Given the description of an element on the screen output the (x, y) to click on. 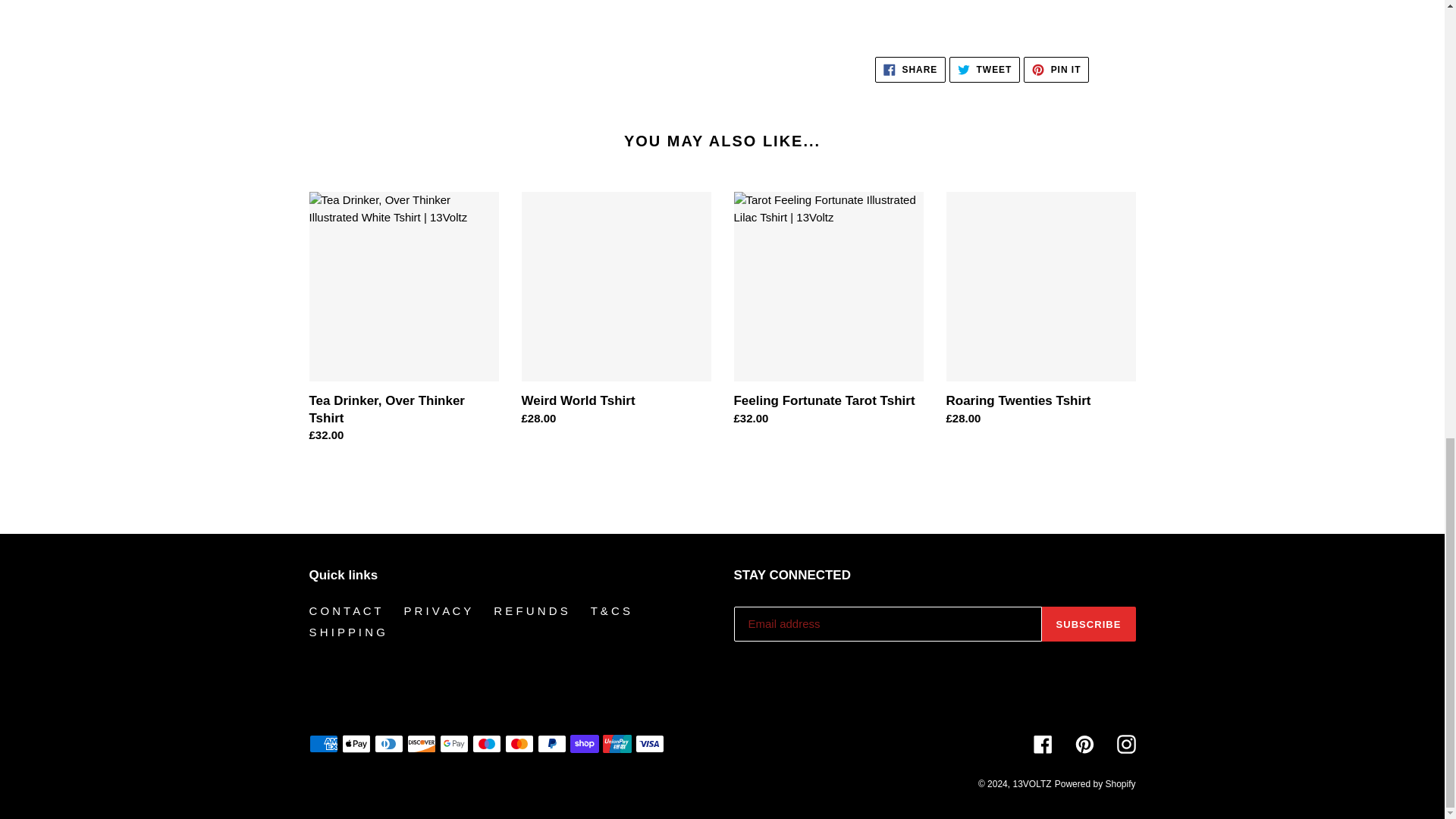
C O N T A C T (344, 610)
R E F U N D S (530, 610)
S H I P P I N G (909, 69)
P R I V A C Y (984, 69)
